Given the description of an element on the screen output the (x, y) to click on. 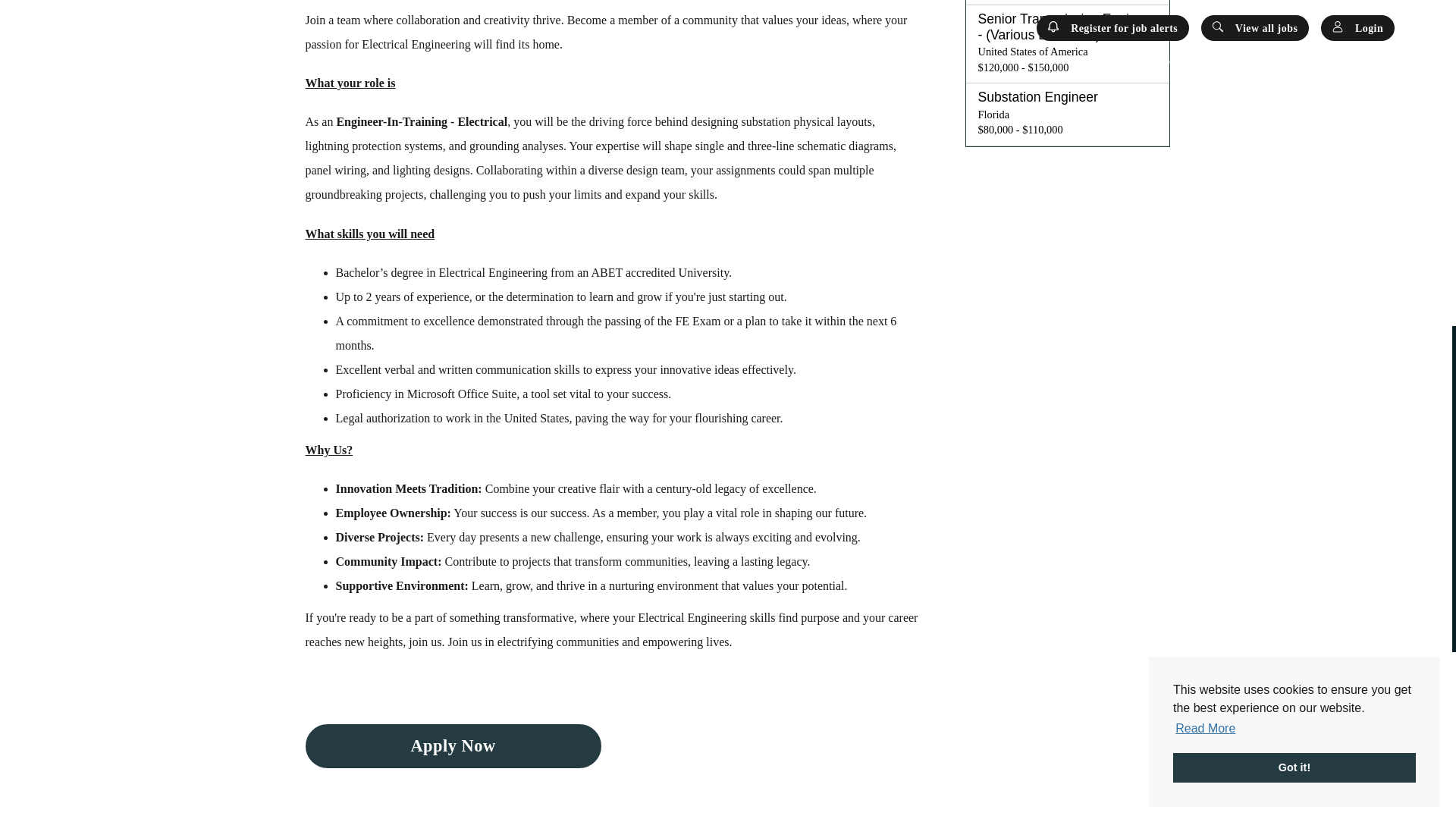
Apply Now (451, 745)
